Given the description of an element on the screen output the (x, y) to click on. 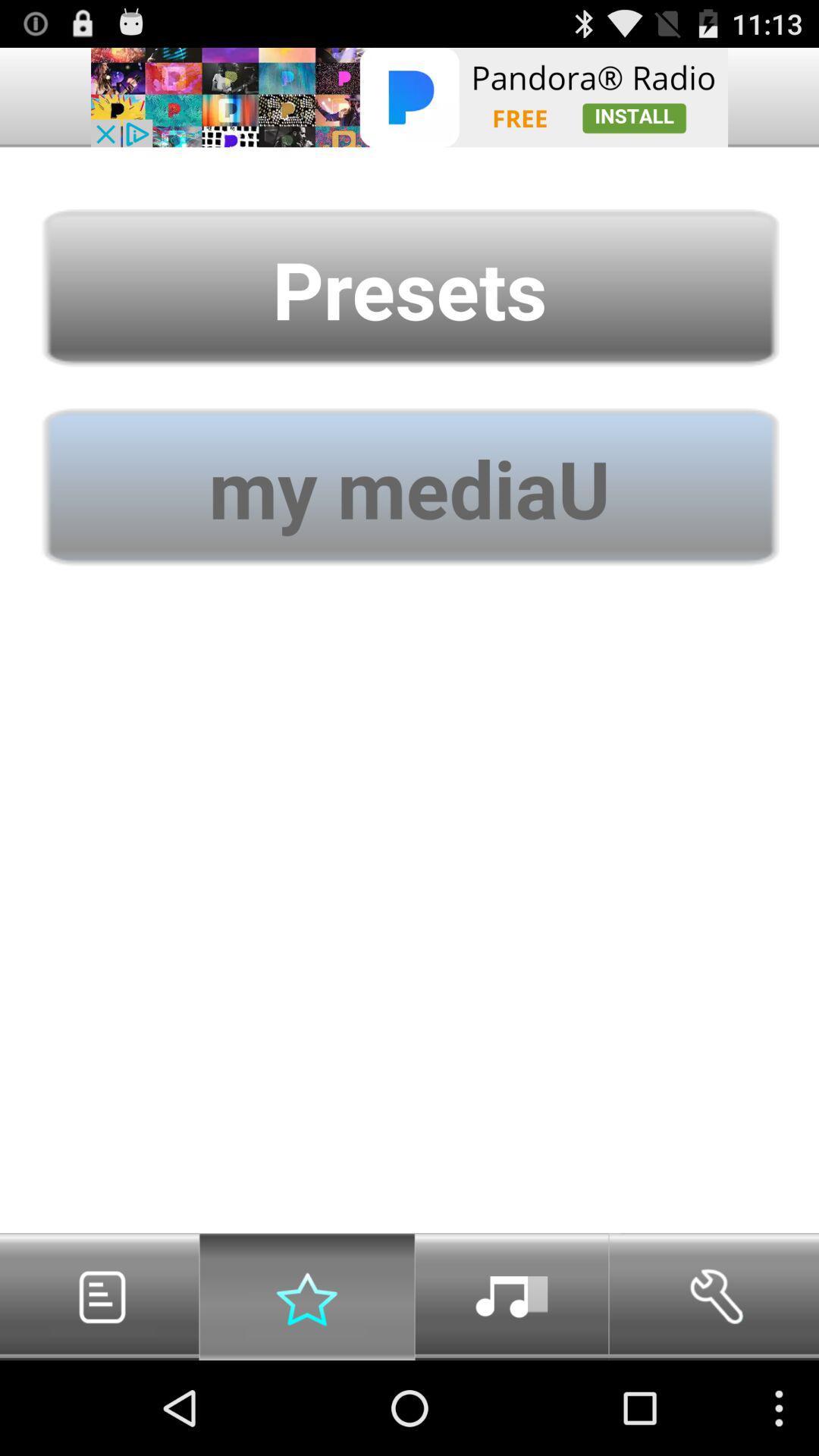
go to advertisement (409, 97)
